Given the description of an element on the screen output the (x, y) to click on. 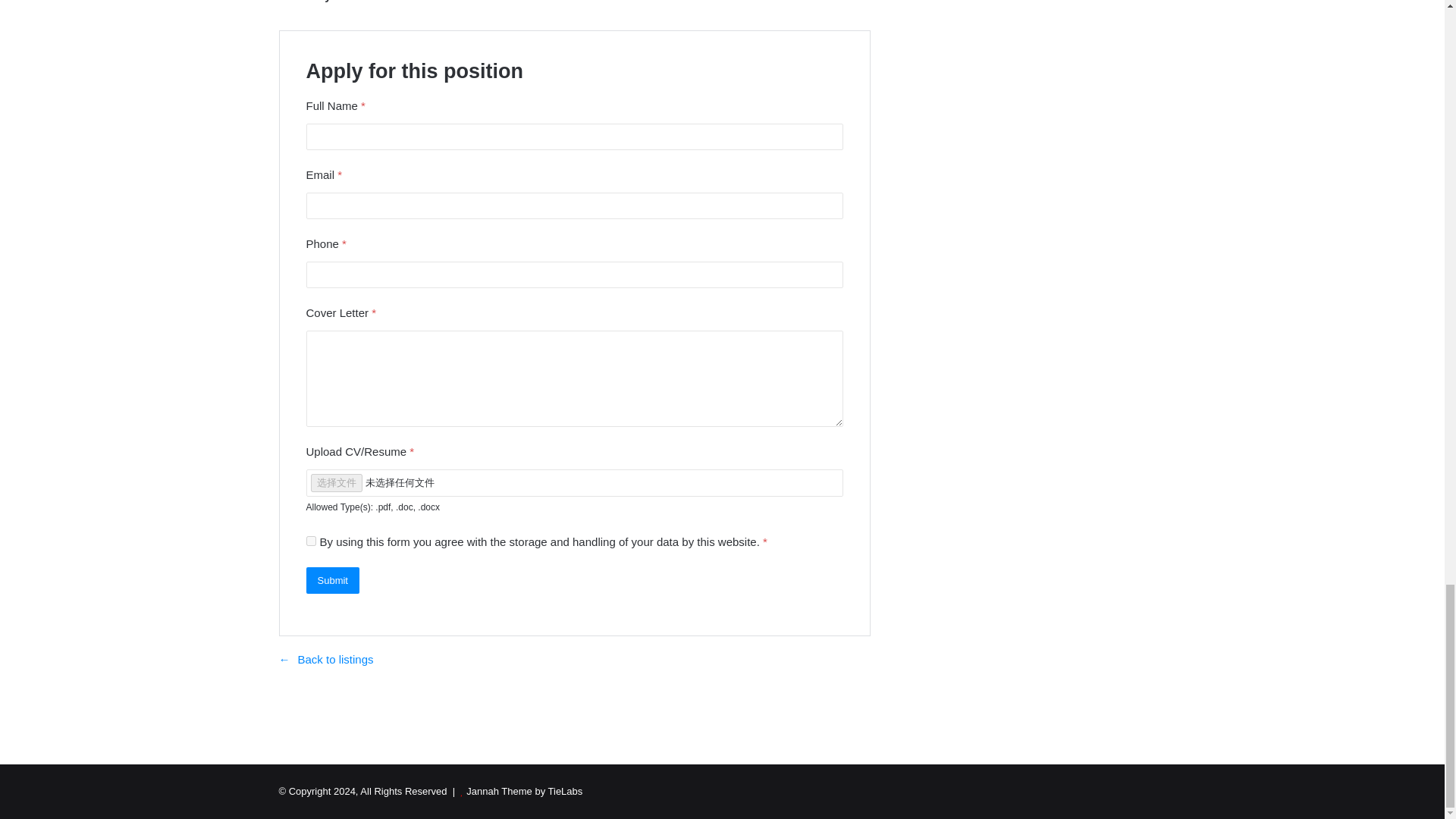
Submit (332, 580)
Submit (332, 580)
Canada (357, 1)
yes (310, 541)
Back to listings (326, 658)
